Given the description of an element on the screen output the (x, y) to click on. 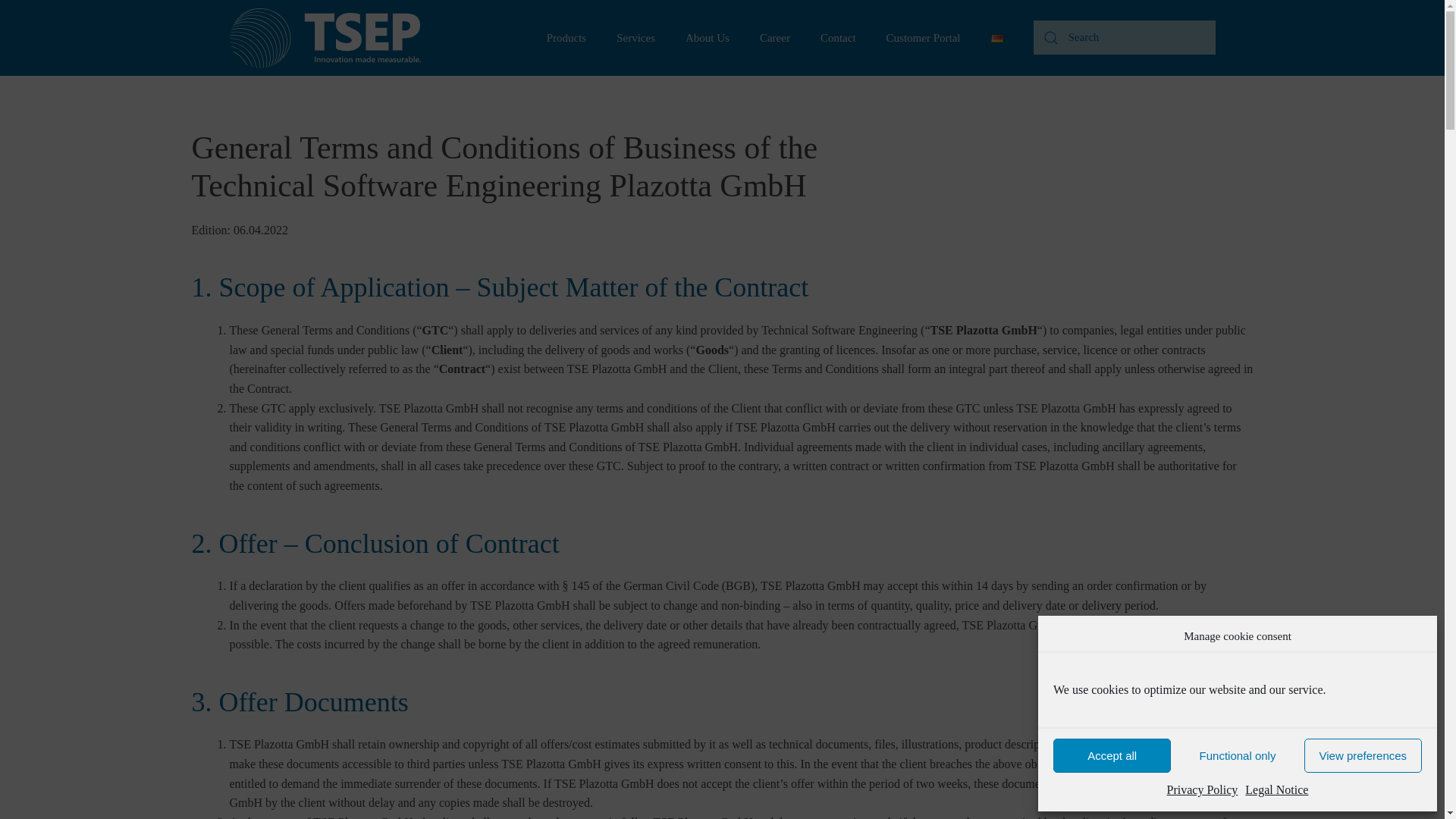
Legal Notice (1275, 790)
Accept all (1111, 755)
Products (566, 38)
View preferences (1363, 755)
Functional only (1236, 755)
Privacy Policy (1203, 790)
